Given the description of an element on the screen output the (x, y) to click on. 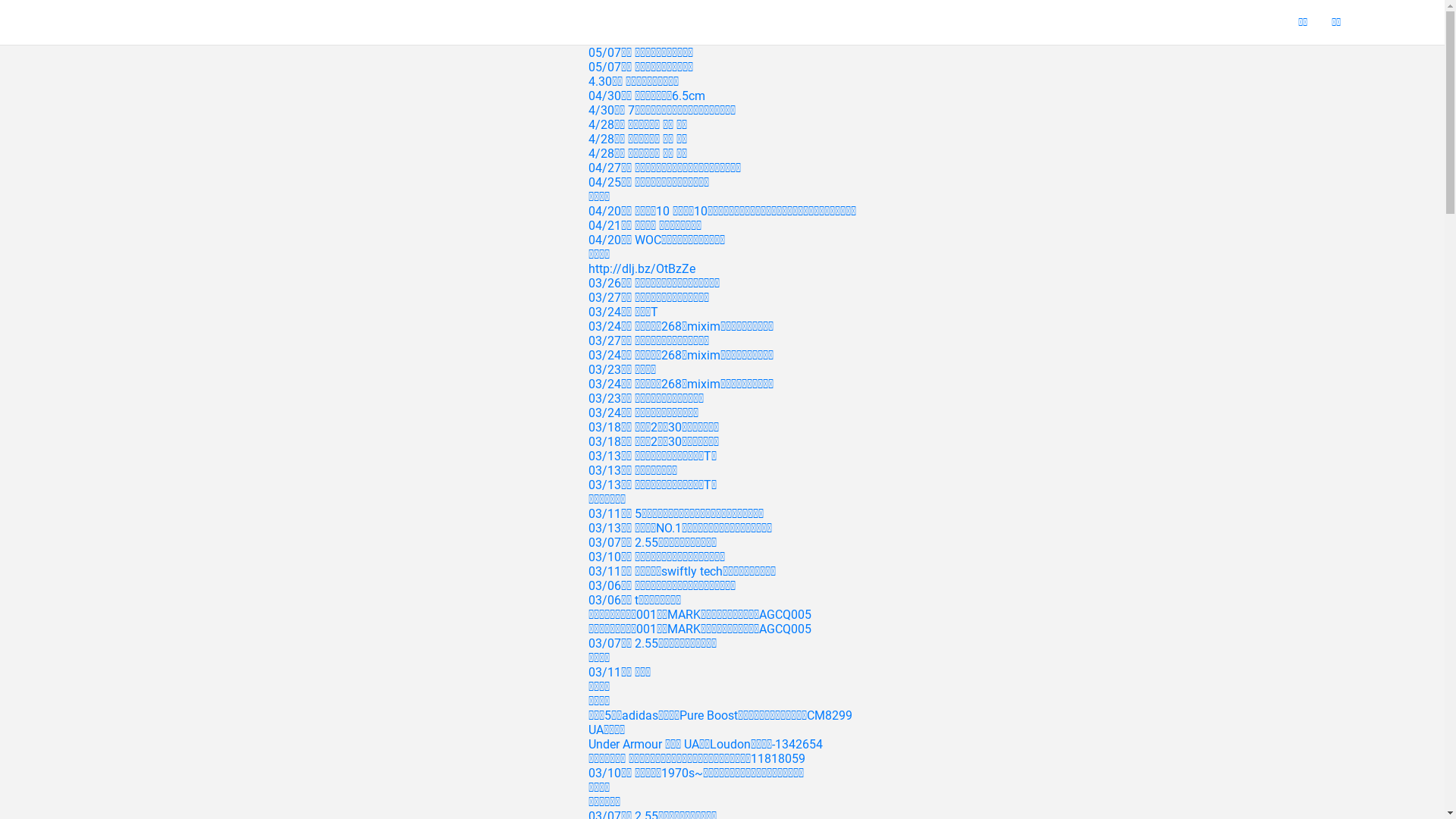
http://dlj.bz/OtBzZe Element type: text (641, 268)
